Given the description of an element on the screen output the (x, y) to click on. 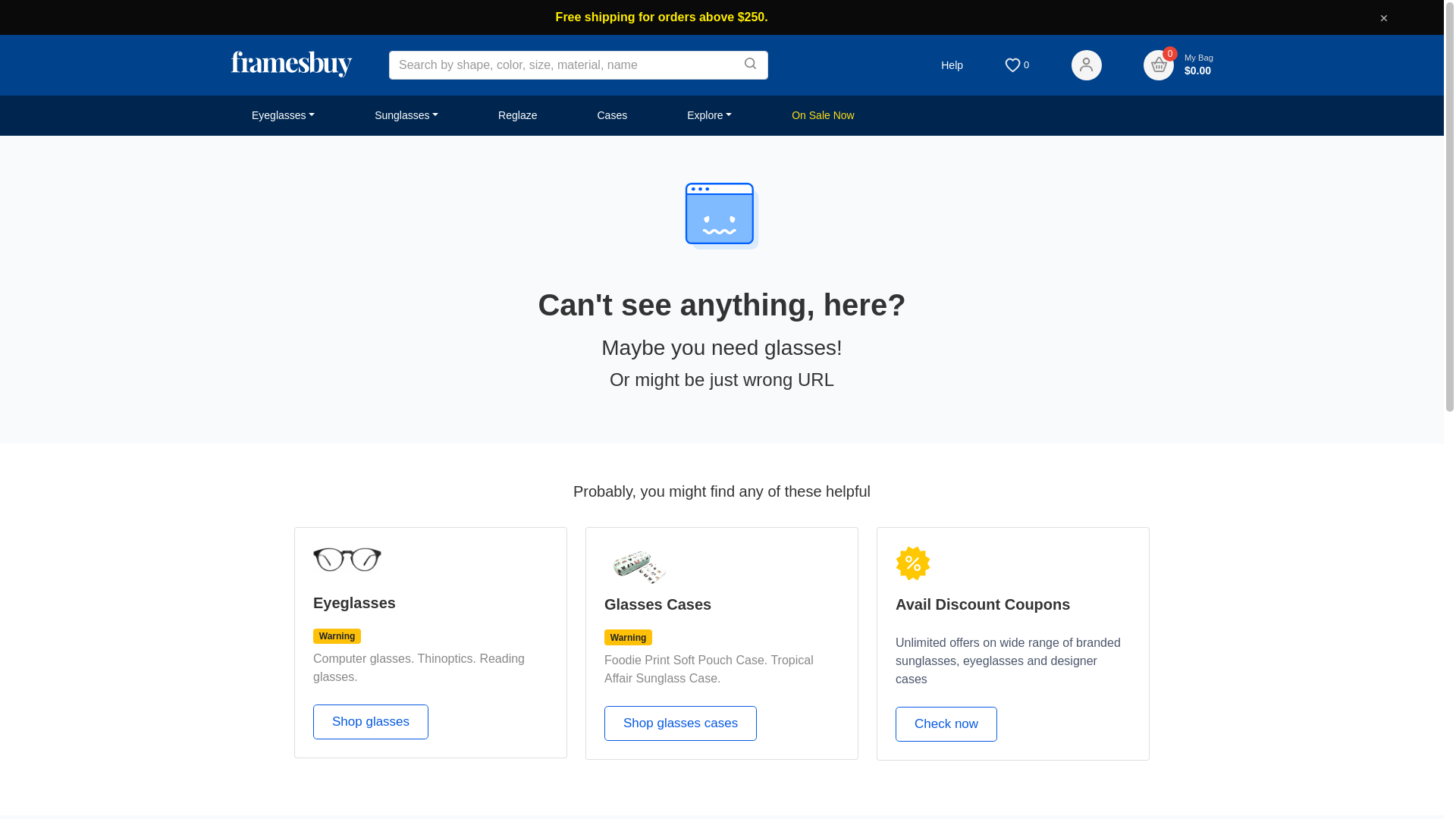
0 Element type: text (1016, 64)
Shop glasses cases Element type: text (680, 723)
Eyeglasses Element type: text (282, 115)
Tropical Affair Sunglass Case. Element type: text (708, 668)
Foodie Print Soft Pouch Case. Element type: text (685, 659)
Reading glasses. Element type: text (418, 667)
On Sale Now Element type: text (822, 115)
0
My Bag
$0.00 Element type: text (1178, 65)
Thinoptics. Element type: text (446, 658)
Explore Element type: text (708, 115)
Reglaze Element type: text (517, 115)
Sunglasses Element type: text (406, 115)
Cases Element type: text (611, 115)
Computer glasses. Element type: text (363, 658)
Help Element type: text (952, 65)
Check now Element type: text (946, 723)
Shop glasses Element type: text (370, 721)
